Given the description of an element on the screen output the (x, y) to click on. 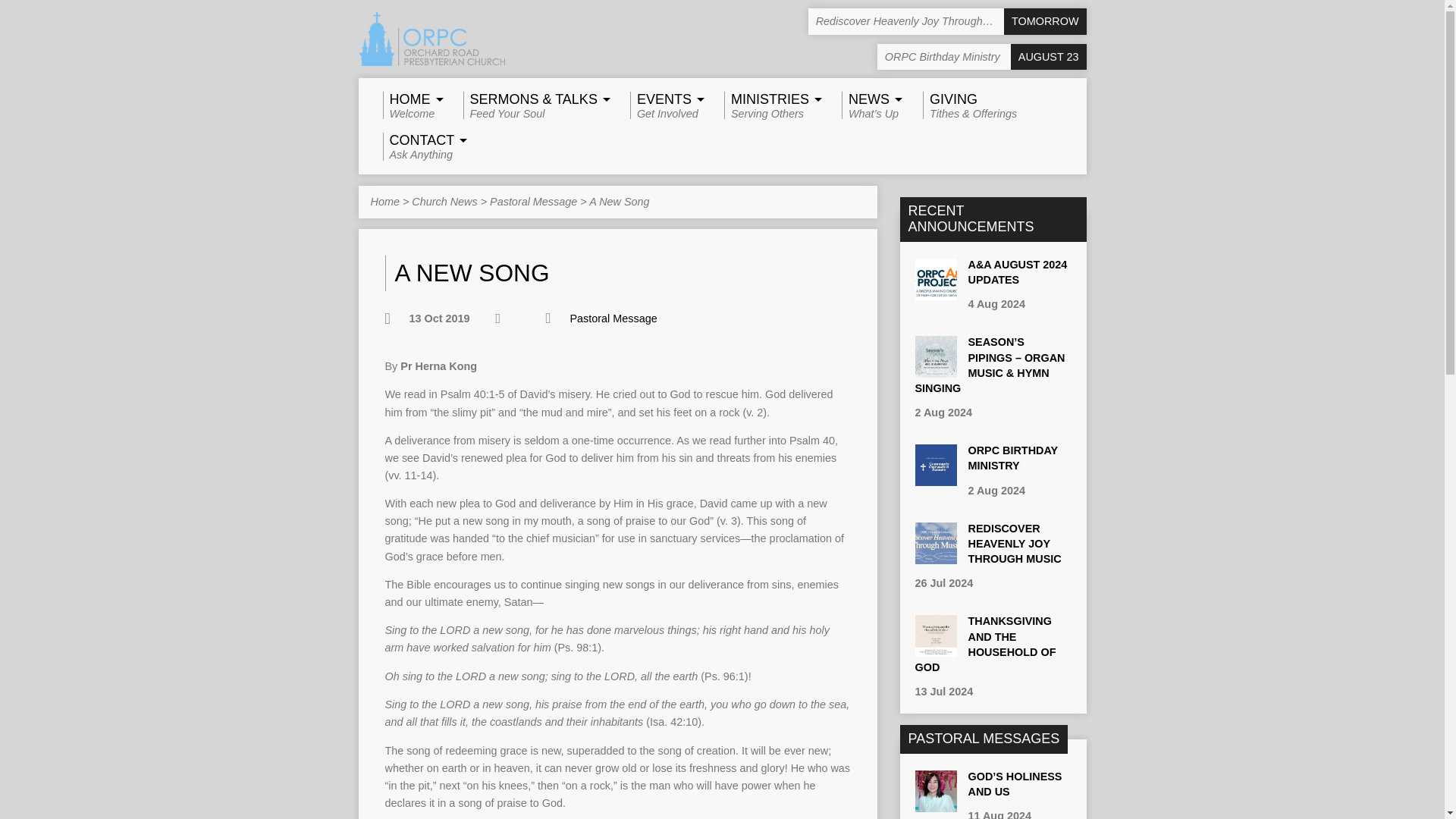
Rediscover Heavenly Joy Through Music (935, 556)
ORPC Birthday Ministry (769, 104)
ORPC Birthday Ministry (935, 478)
Thanksgiving and the Household of God (1012, 457)
Rediscover Heavenly Joy Through Music (984, 643)
Rediscover Heavenly Joy Through Music (1014, 543)
ORPC Birthday Ministry (409, 104)
Thanksgiving and the Household of God (947, 21)
